Given the description of an element on the screen output the (x, y) to click on. 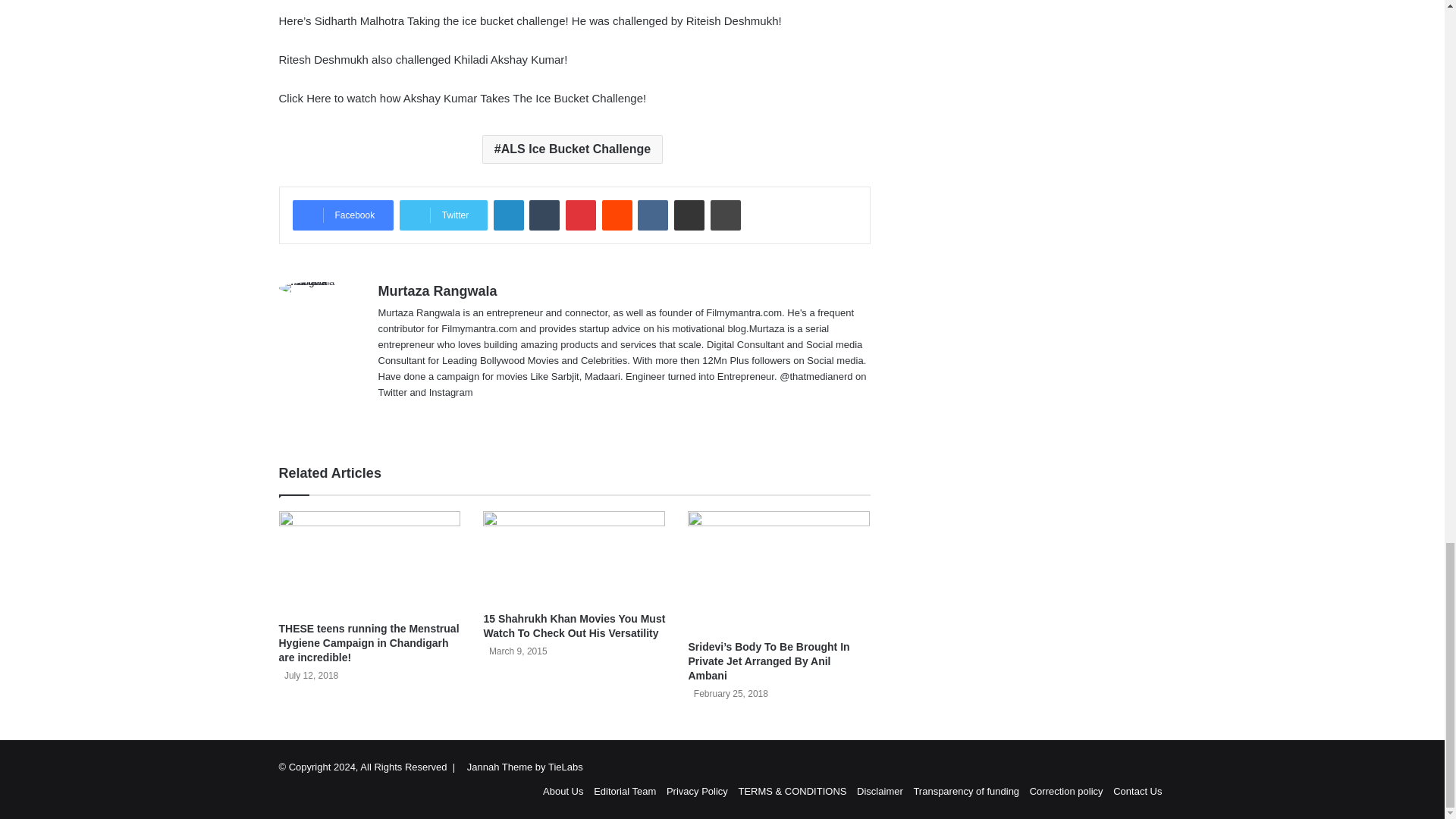
Share via Email (689, 214)
LinkedIn (508, 214)
Pinterest (580, 214)
Tumblr (544, 214)
Twitter (442, 214)
Tumblr (544, 214)
VKontakte (652, 214)
Twitter (442, 214)
Reddit (616, 214)
Print (725, 214)
